Given the description of an element on the screen output the (x, y) to click on. 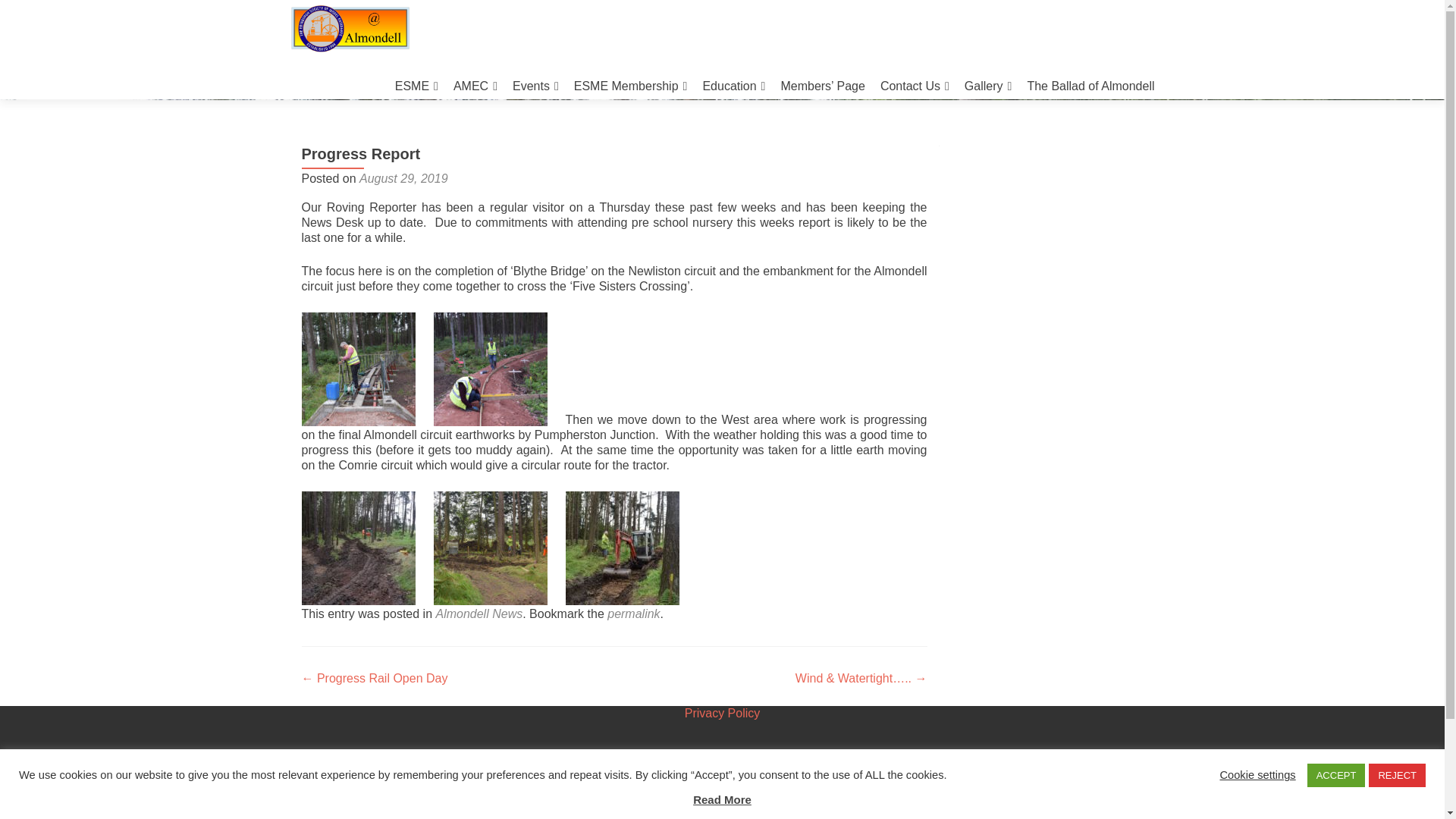
AMEC (474, 85)
ESME Membership (630, 85)
ESME (416, 85)
Gallery (987, 85)
Events (535, 85)
Contact Us (914, 85)
Education (733, 85)
